Given the description of an element on the screen output the (x, y) to click on. 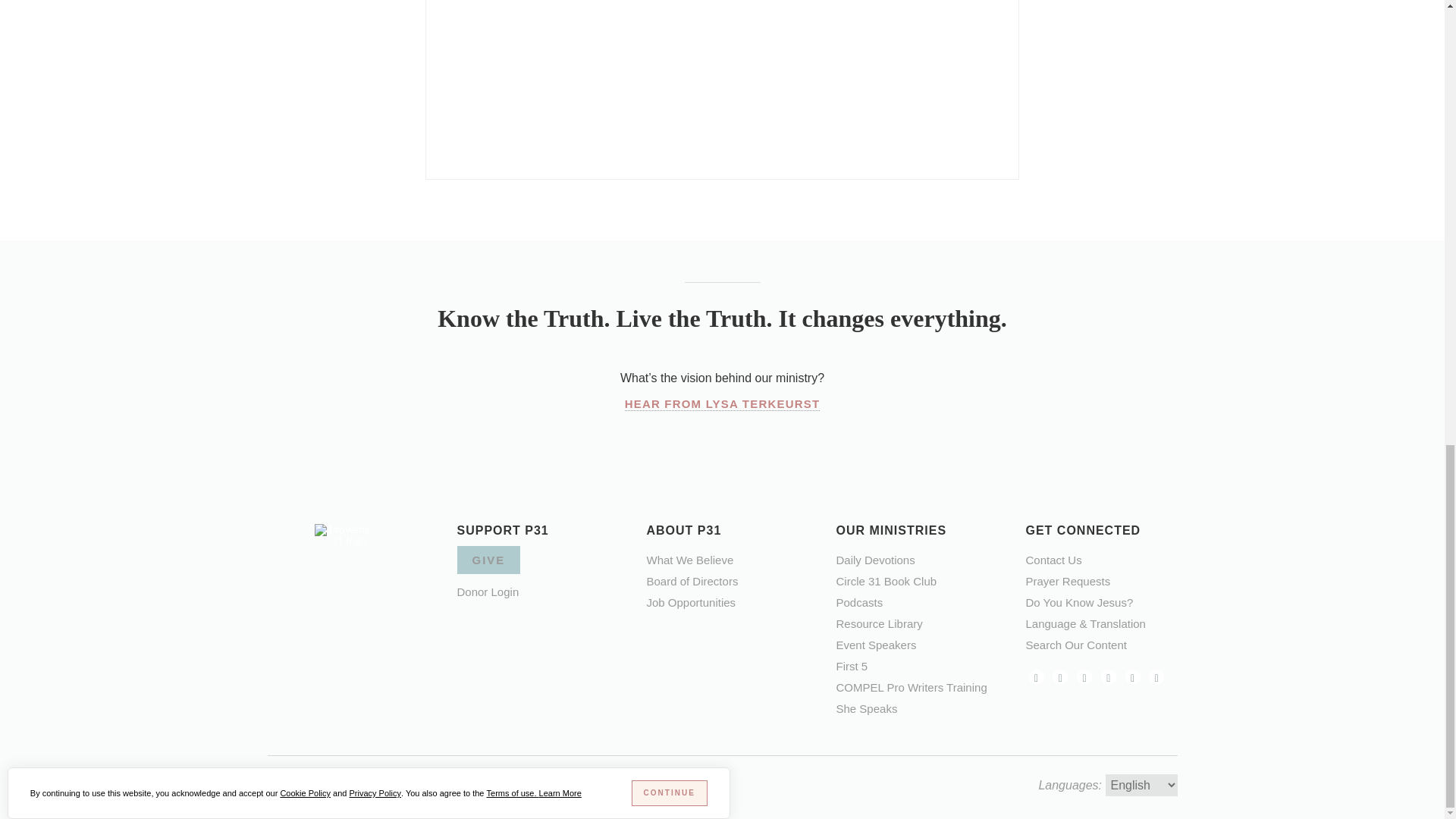
Pinterest (1108, 676)
Youtube (1155, 676)
Twitter (1084, 676)
Podast (1132, 676)
Instagram (1059, 676)
Facebook (1035, 676)
Form 0 (722, 81)
Prayer Wall (1067, 581)
